Given the description of an element on the screen output the (x, y) to click on. 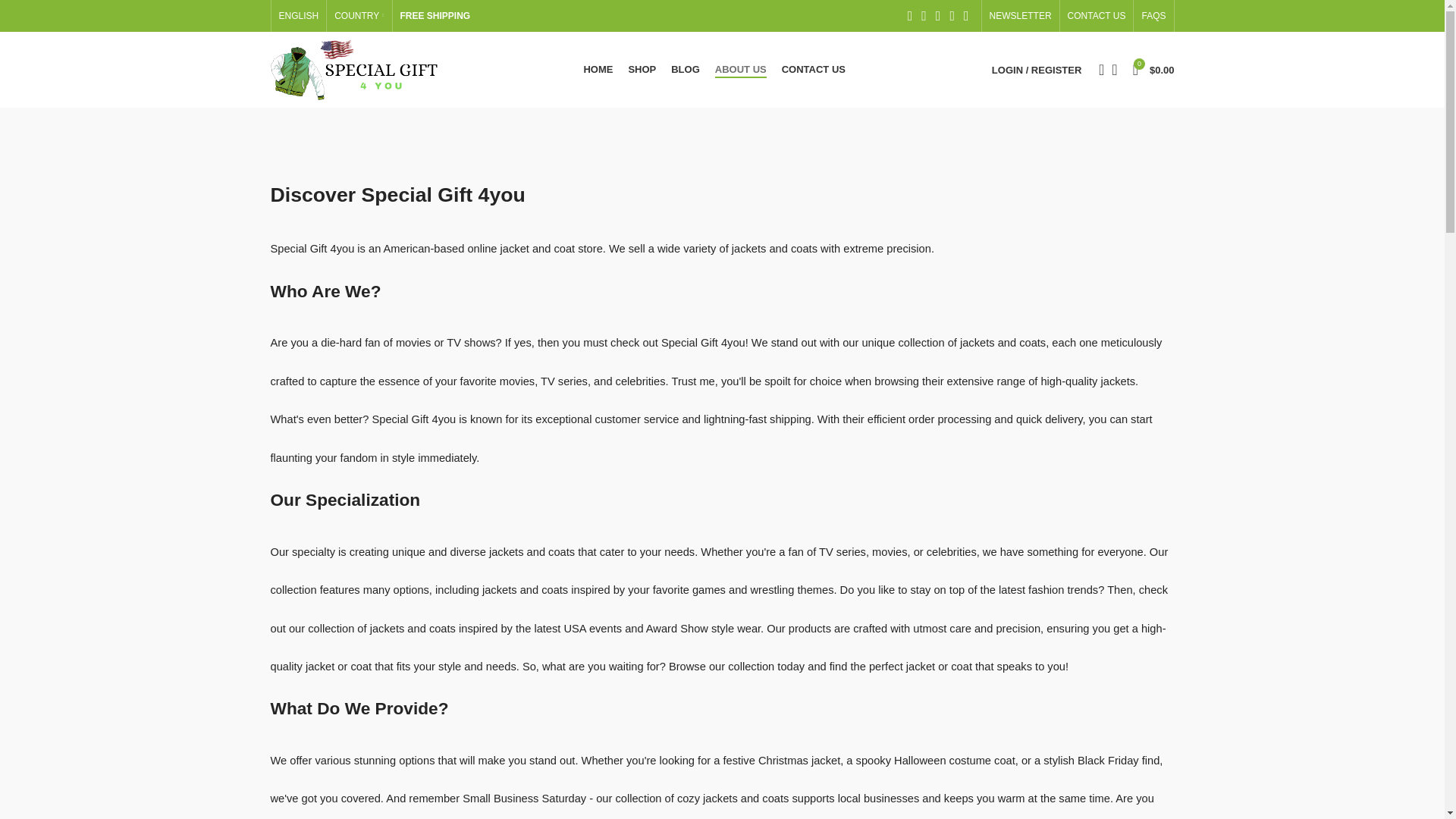
ABOUT US (740, 69)
BLOG (685, 69)
My account (1036, 69)
SHOP (641, 69)
ENGLISH (298, 15)
HOME (597, 69)
NEWSLETTER (1020, 15)
CONTACT US (813, 69)
CONTACT US (1096, 15)
COUNTRY (359, 15)
Shopping cart (1153, 69)
